Given the description of an element on the screen output the (x, y) to click on. 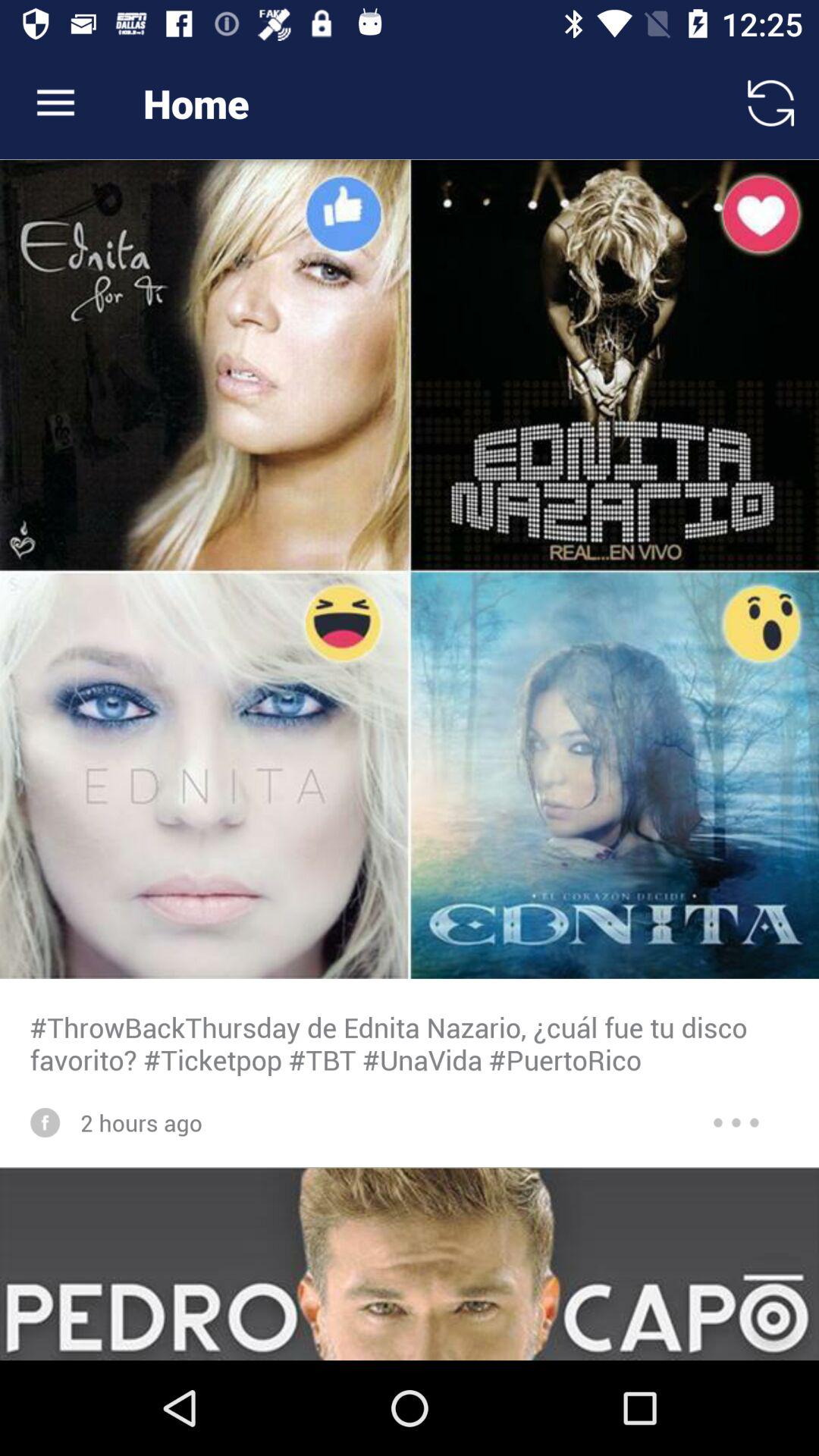
tap icon to the left of home icon (55, 103)
